Given the description of an element on the screen output the (x, y) to click on. 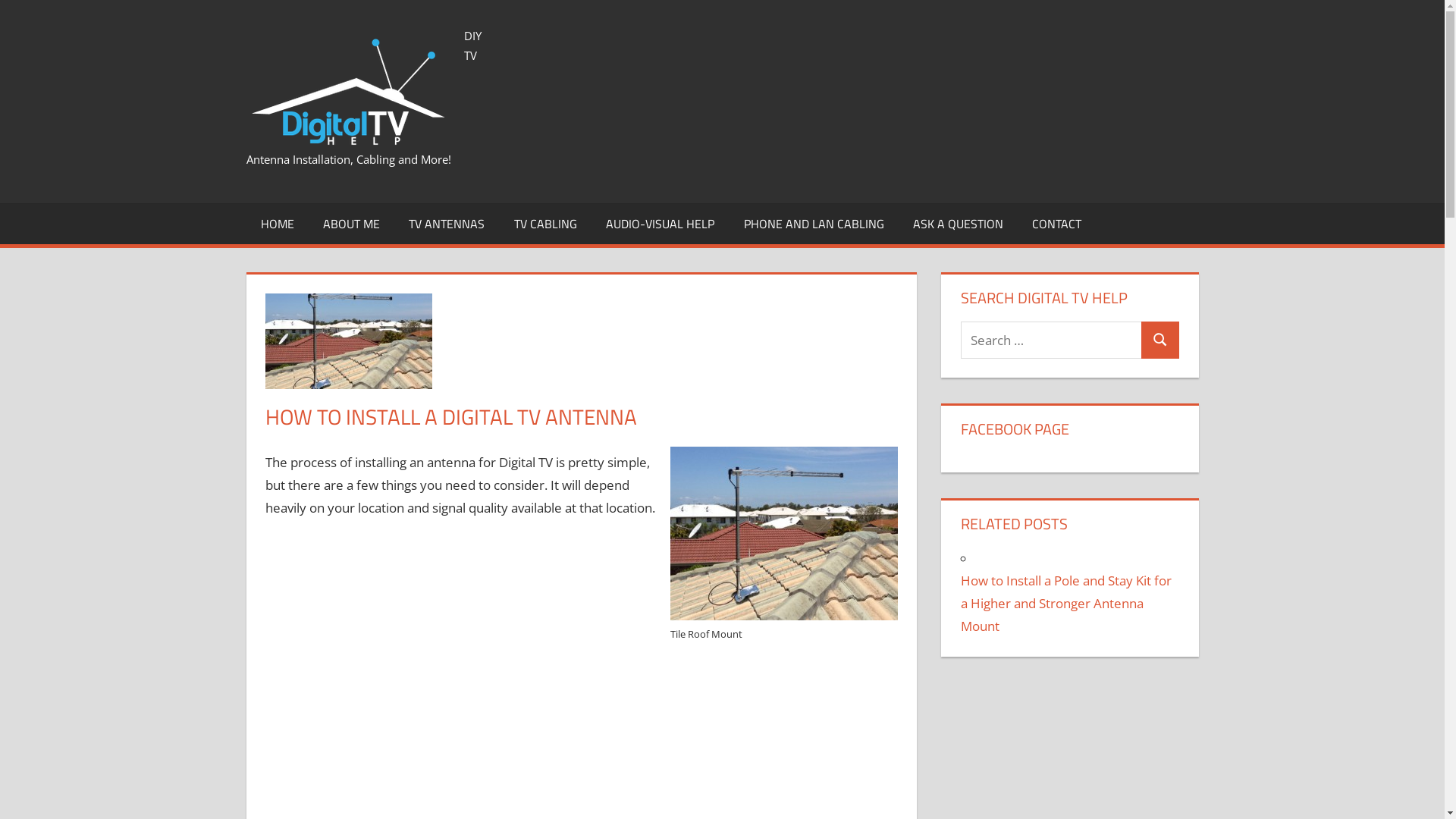
Search for: Element type: hover (1051, 339)
HOME Element type: text (276, 223)
TV ANTENNAS Element type: text (446, 223)
ABOUT ME Element type: text (351, 223)
AUDIO-VISUAL HELP Element type: text (659, 223)
DIGITAL TV HELP Element type: text (508, 86)
ASK A QUESTION Element type: text (957, 223)
PHONE AND LAN CABLING Element type: text (812, 223)
Search Element type: text (1160, 339)
TV CABLING Element type: text (545, 223)
CONTACT Element type: text (1056, 223)
